Given the description of an element on the screen output the (x, y) to click on. 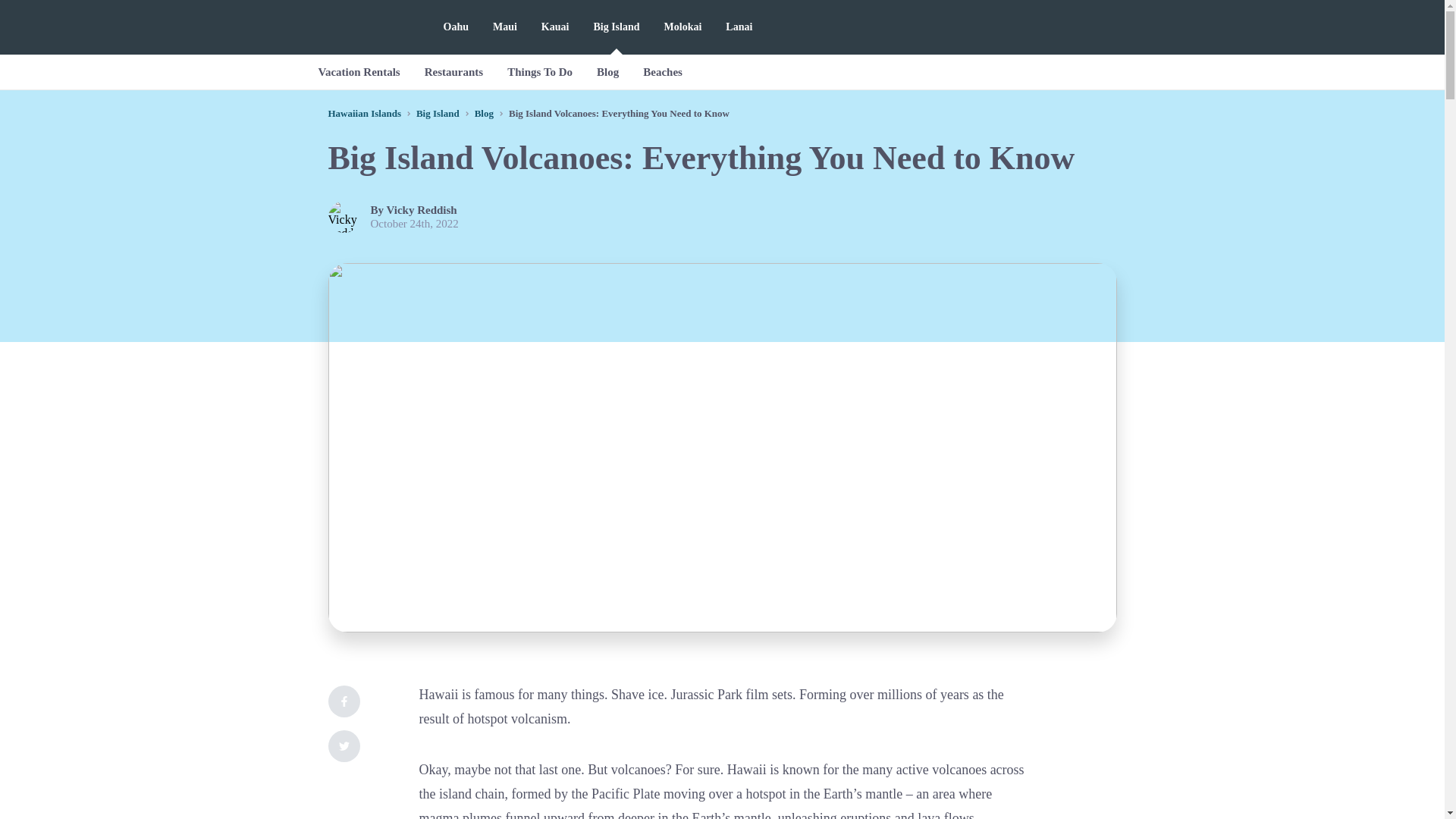
Blog (483, 112)
Hawaiian Islands (363, 112)
Vacation Rentals (358, 71)
Restaurants (454, 71)
Blog (607, 71)
Beaches (662, 71)
Big Island (438, 112)
Things To Do (540, 71)
Vicky Reddish (422, 209)
